Given the description of an element on the screen output the (x, y) to click on. 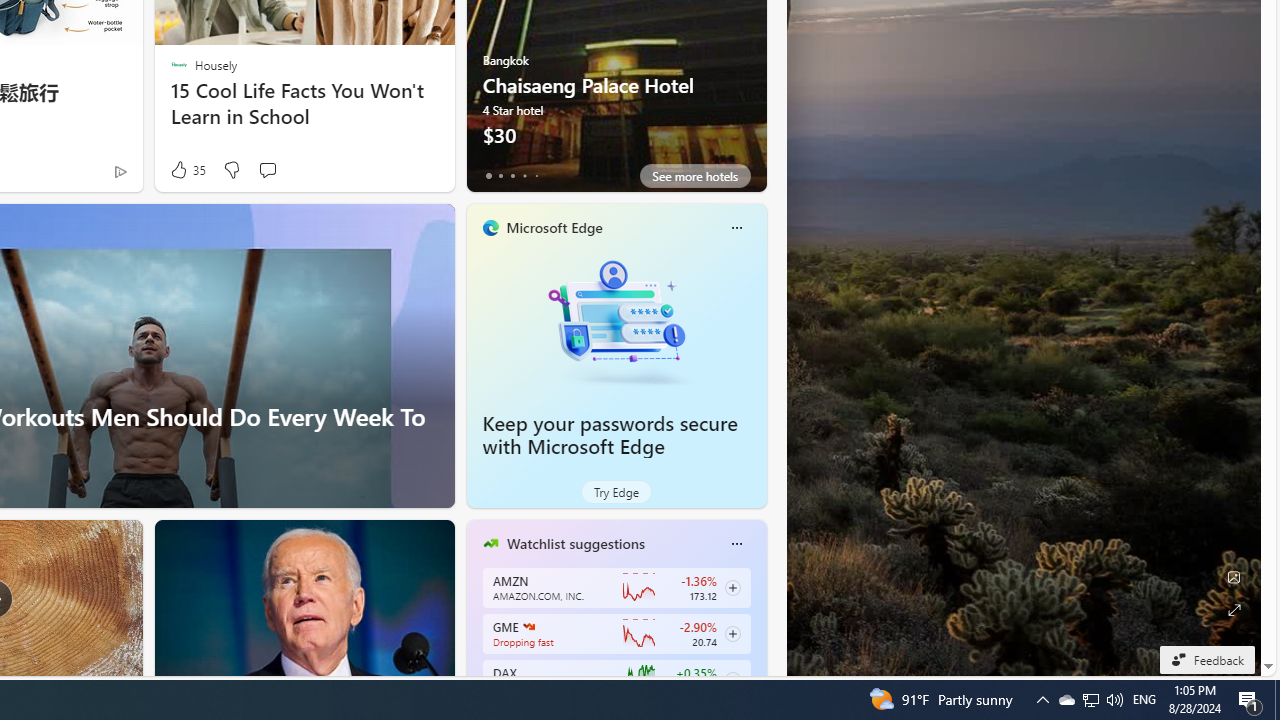
Class: follow-button  m (732, 679)
Keep your passwords secure with Microsoft Edge (616, 321)
tab-3 (524, 175)
tab-2 (511, 175)
tab-4 (535, 175)
Edit Background (1233, 577)
See more hotels (694, 175)
tab-0 (488, 175)
